Given the description of an element on the screen output the (x, y) to click on. 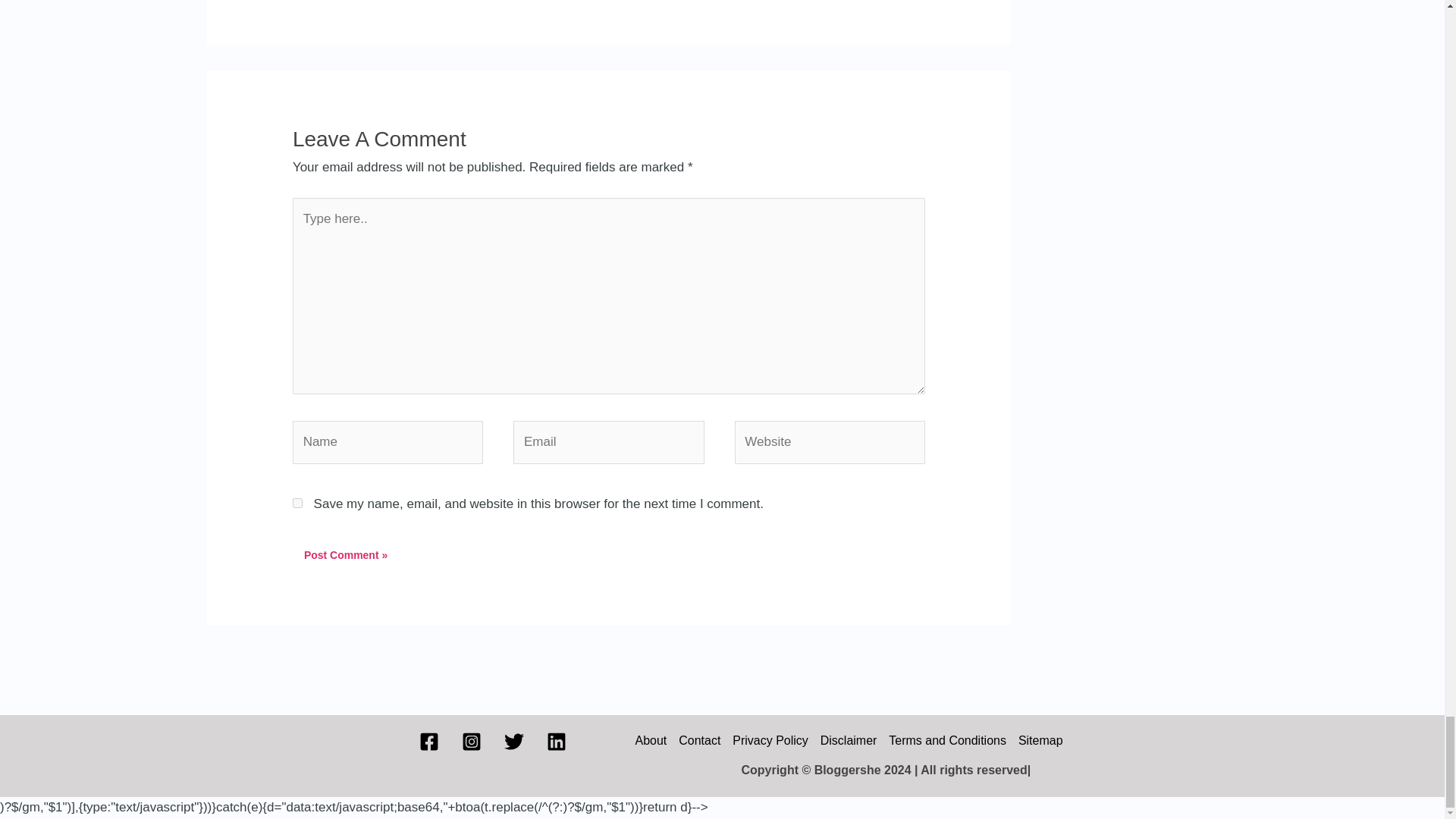
yes (297, 502)
